Given the description of an element on the screen output the (x, y) to click on. 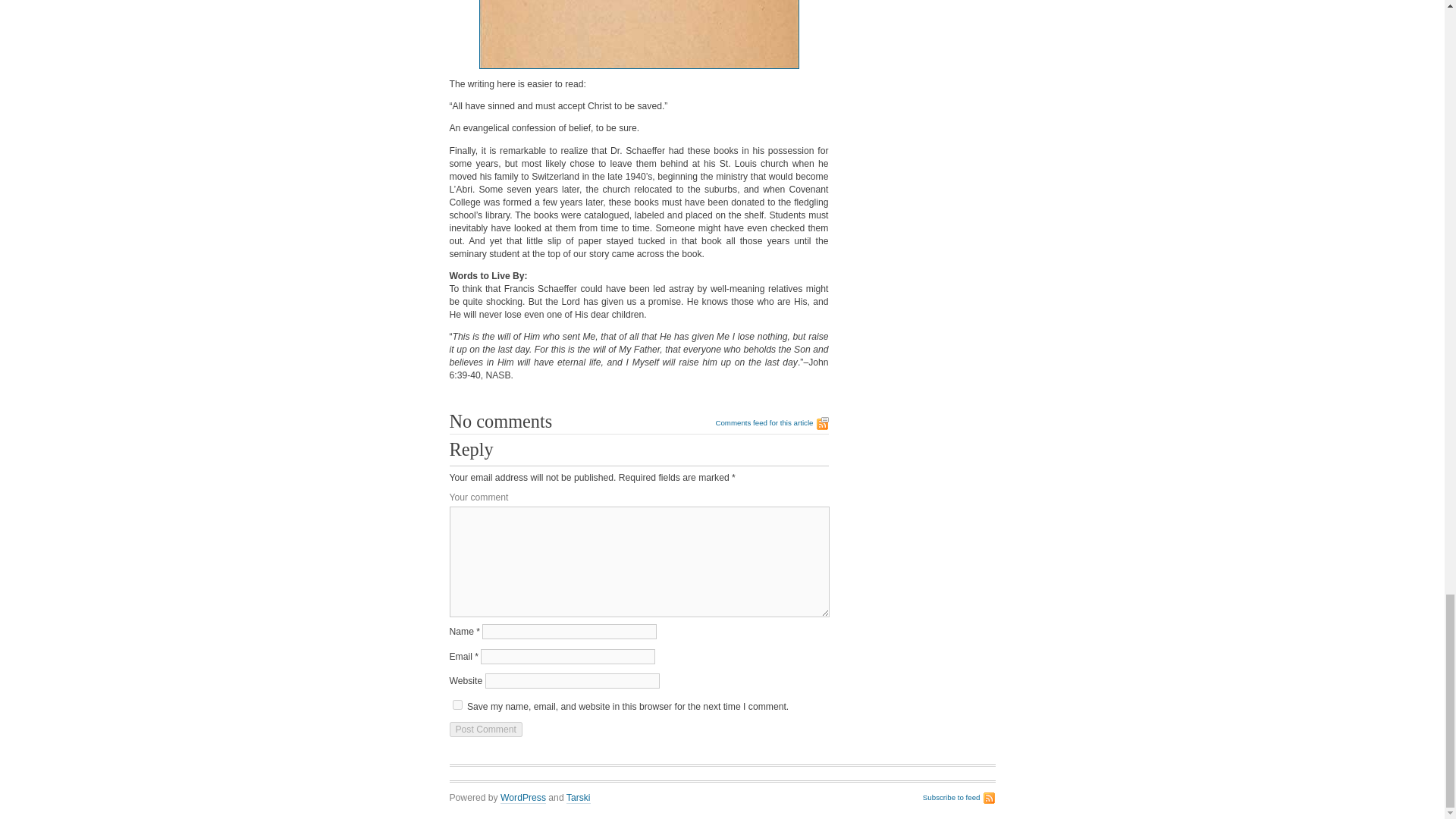
yes (456, 705)
Comments feed for this article (771, 423)
Subscribe to feed (959, 797)
Post Comment (484, 729)
WordPress (523, 797)
Tarski (578, 797)
Post Comment (484, 729)
